Given the description of an element on the screen output the (x, y) to click on. 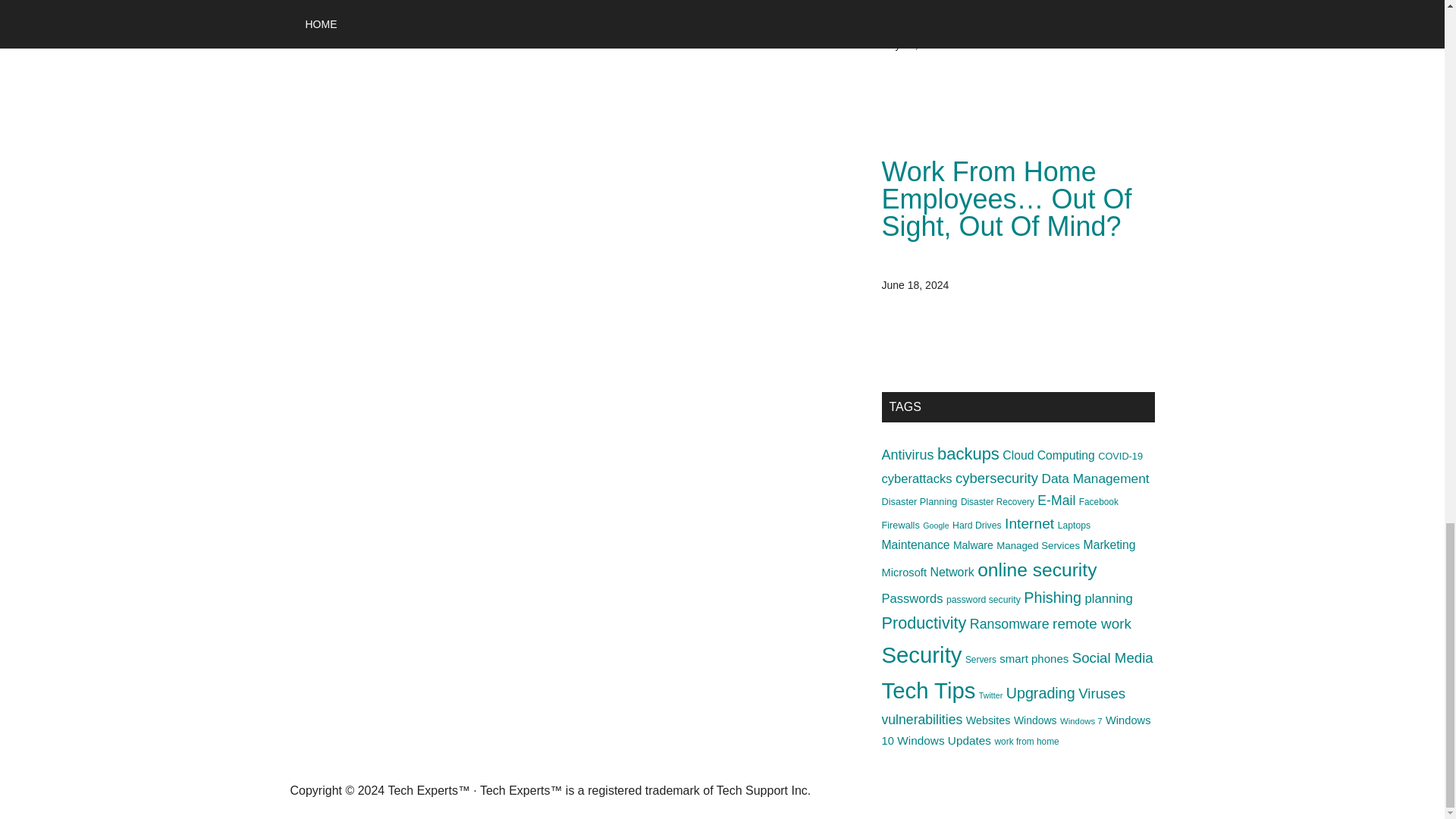
cybersecurity (996, 478)
Cloud Computing (1048, 454)
cyberattacks (916, 478)
Antivirus (906, 454)
COVID-19 (1119, 455)
Data Management (1094, 478)
backups (967, 453)
